Given the description of an element on the screen output the (x, y) to click on. 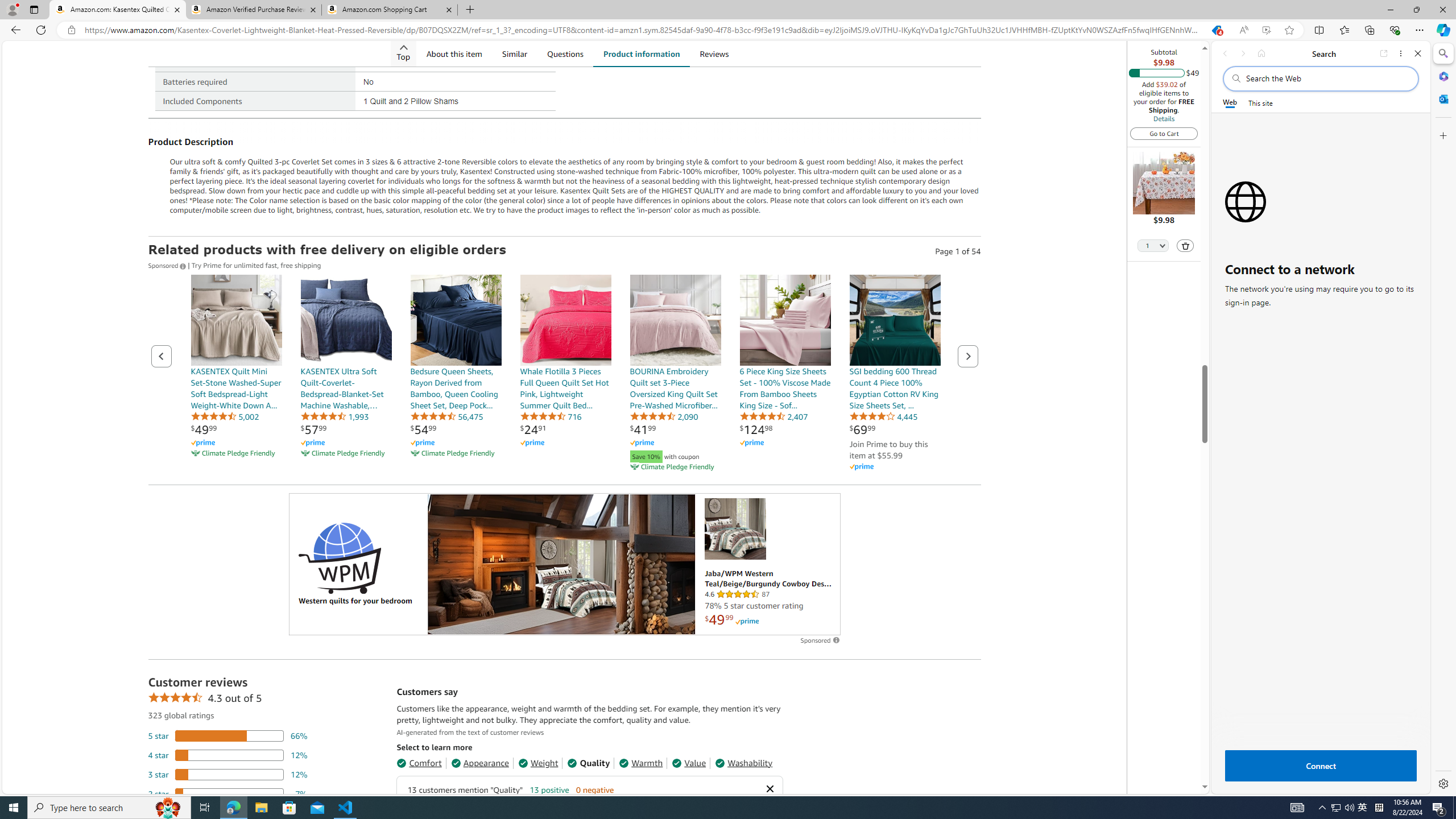
Search the web (1326, 78)
About this item (454, 53)
Product information (641, 53)
$49.99 (203, 429)
$24.91 (532, 429)
$69.99 (862, 429)
